Given the description of an element on the screen output the (x, y) to click on. 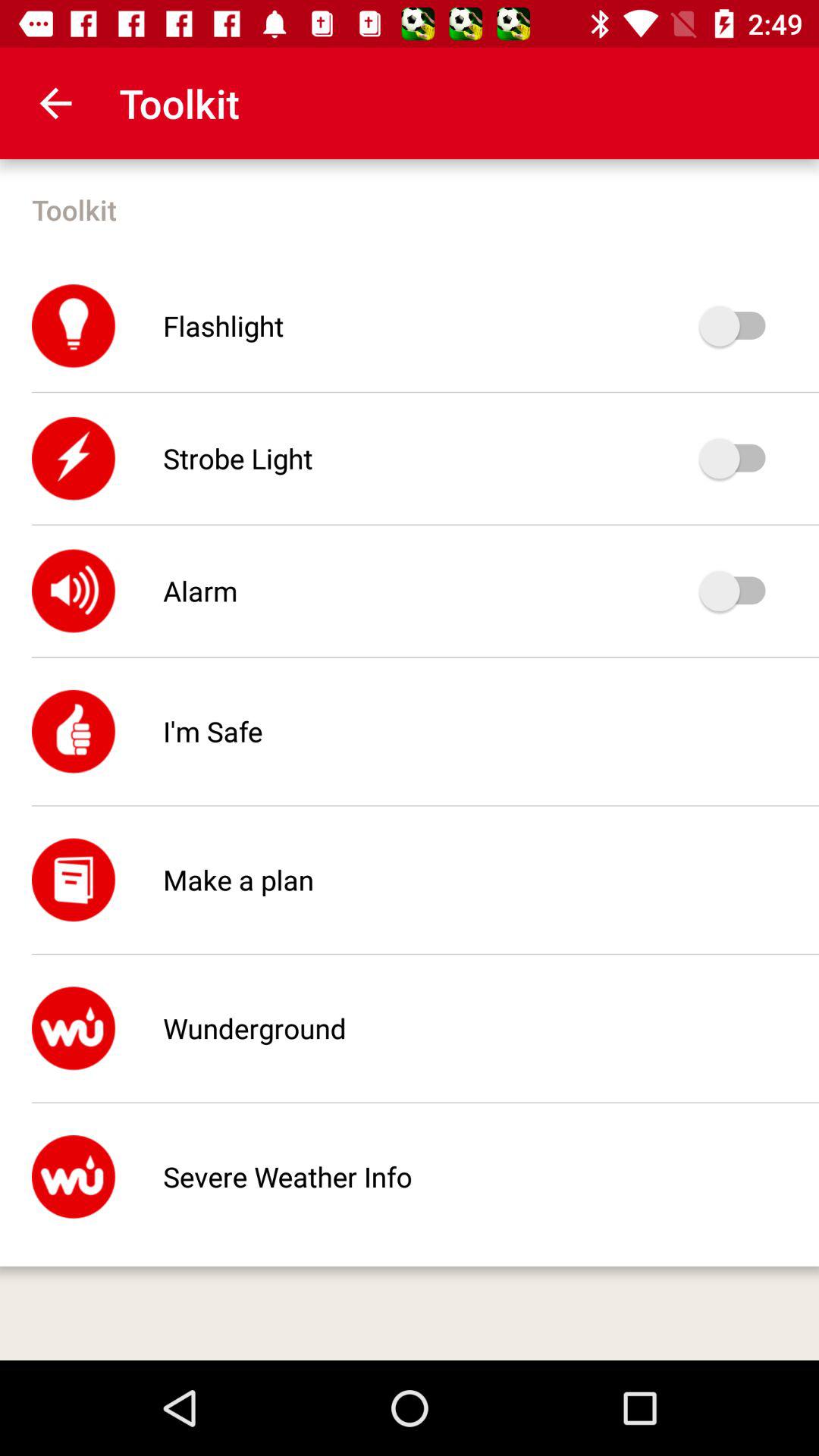
tap the app next to toolkit app (55, 103)
